Given the description of an element on the screen output the (x, y) to click on. 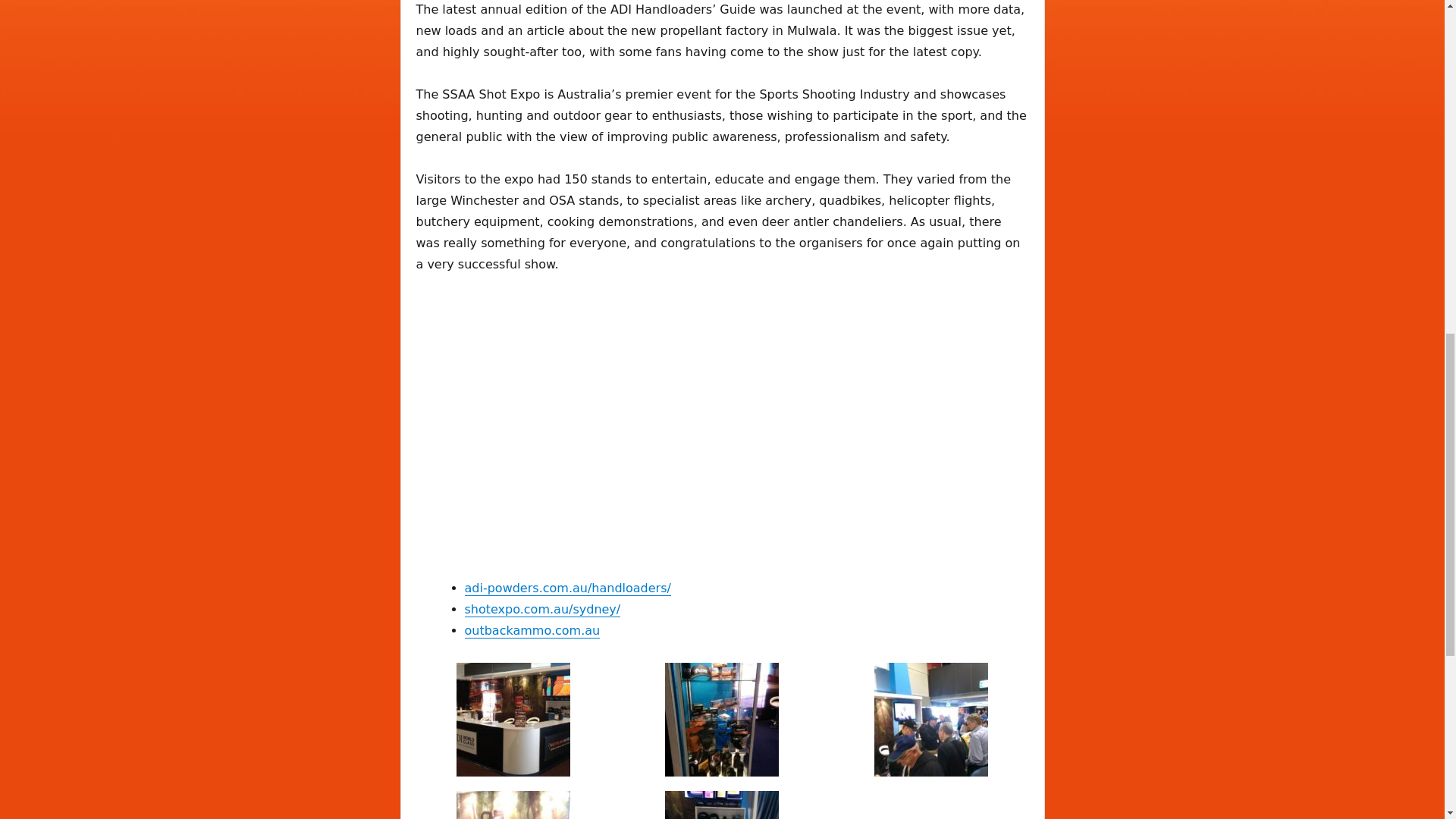
outbackammo.com.au (531, 630)
